Given the description of an element on the screen output the (x, y) to click on. 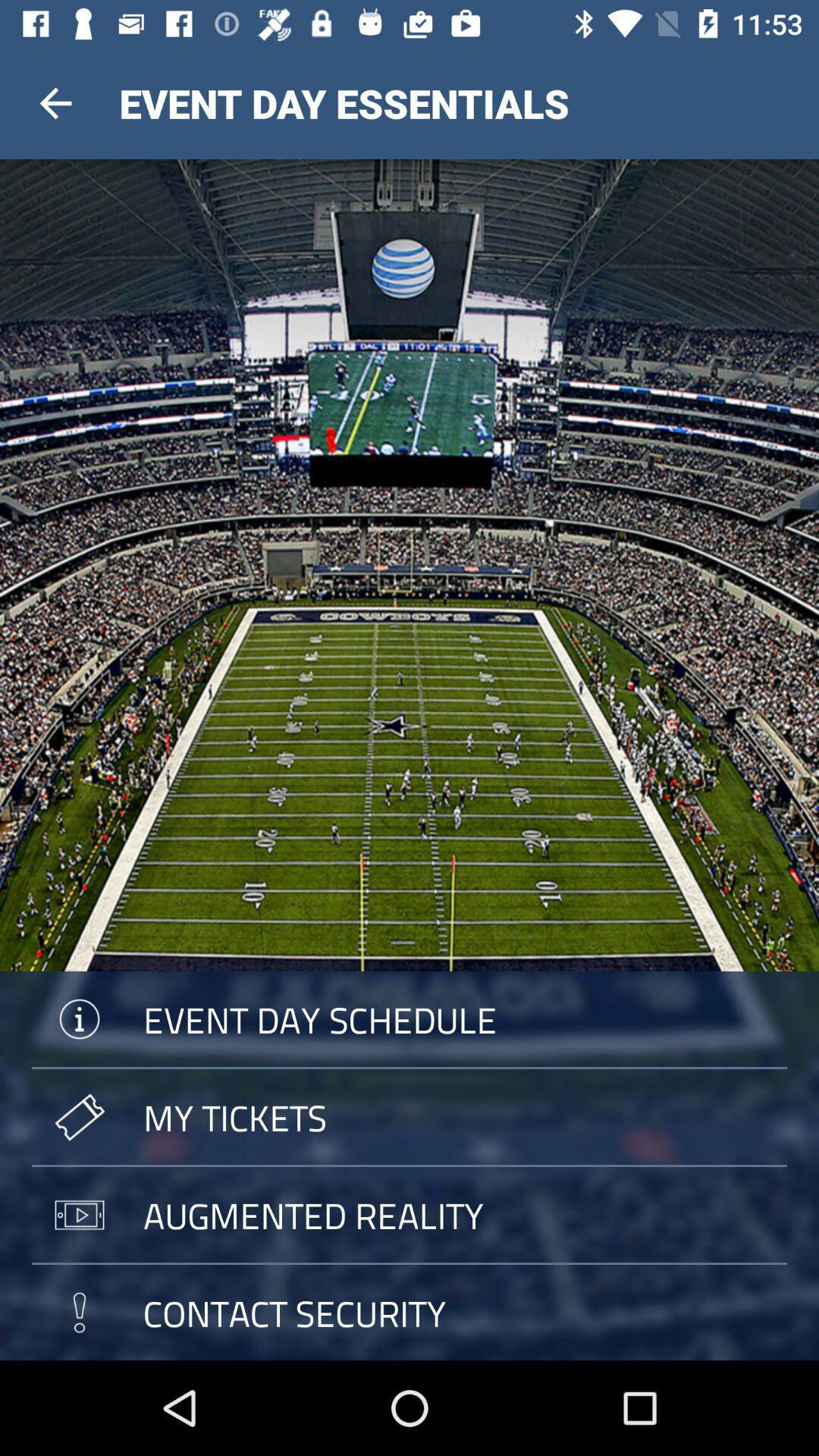
choose the my tickets (409, 1116)
